Given the description of an element on the screen output the (x, y) to click on. 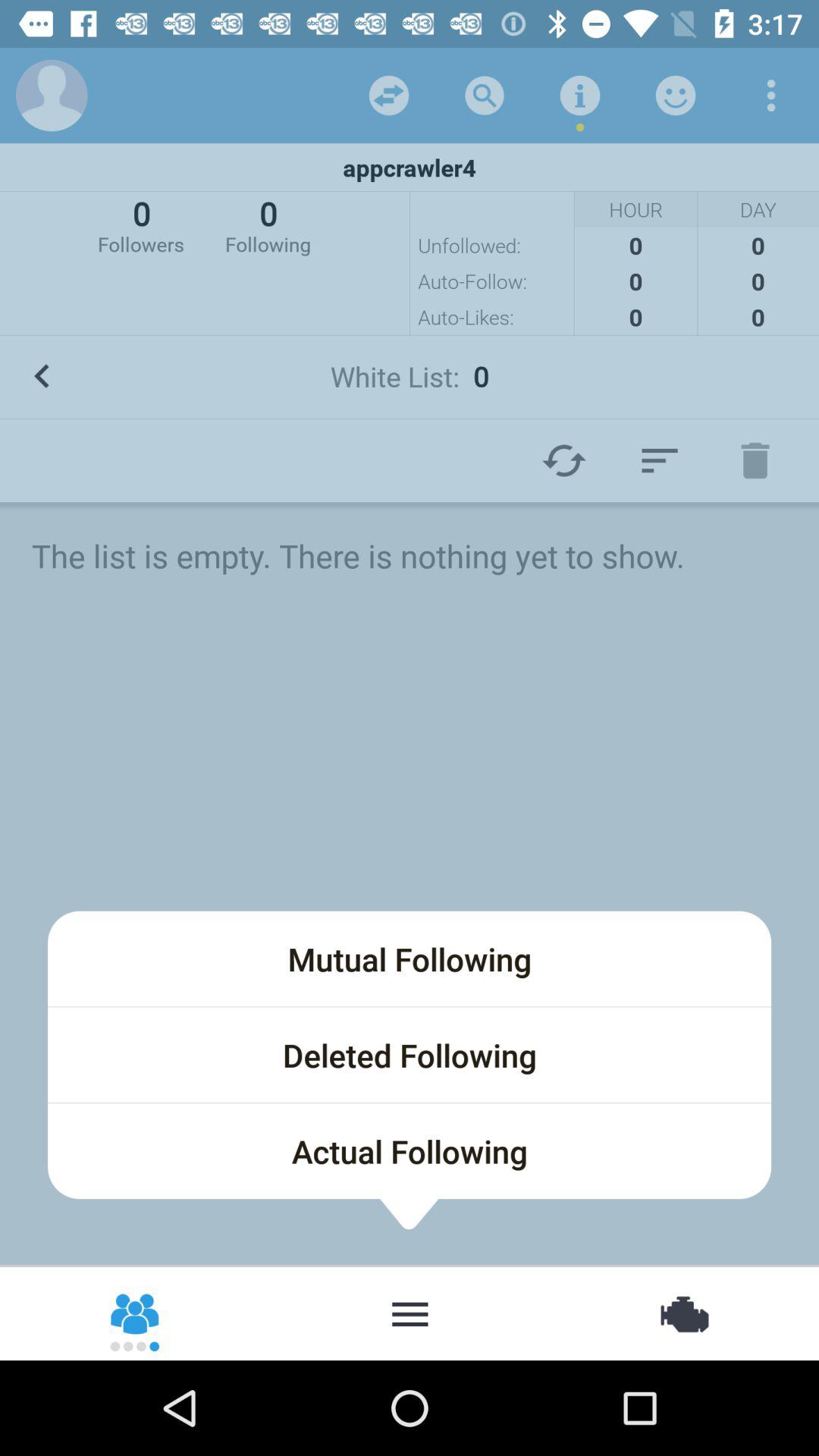
turn off item to the left of the 0
following icon (140, 224)
